Given the description of an element on the screen output the (x, y) to click on. 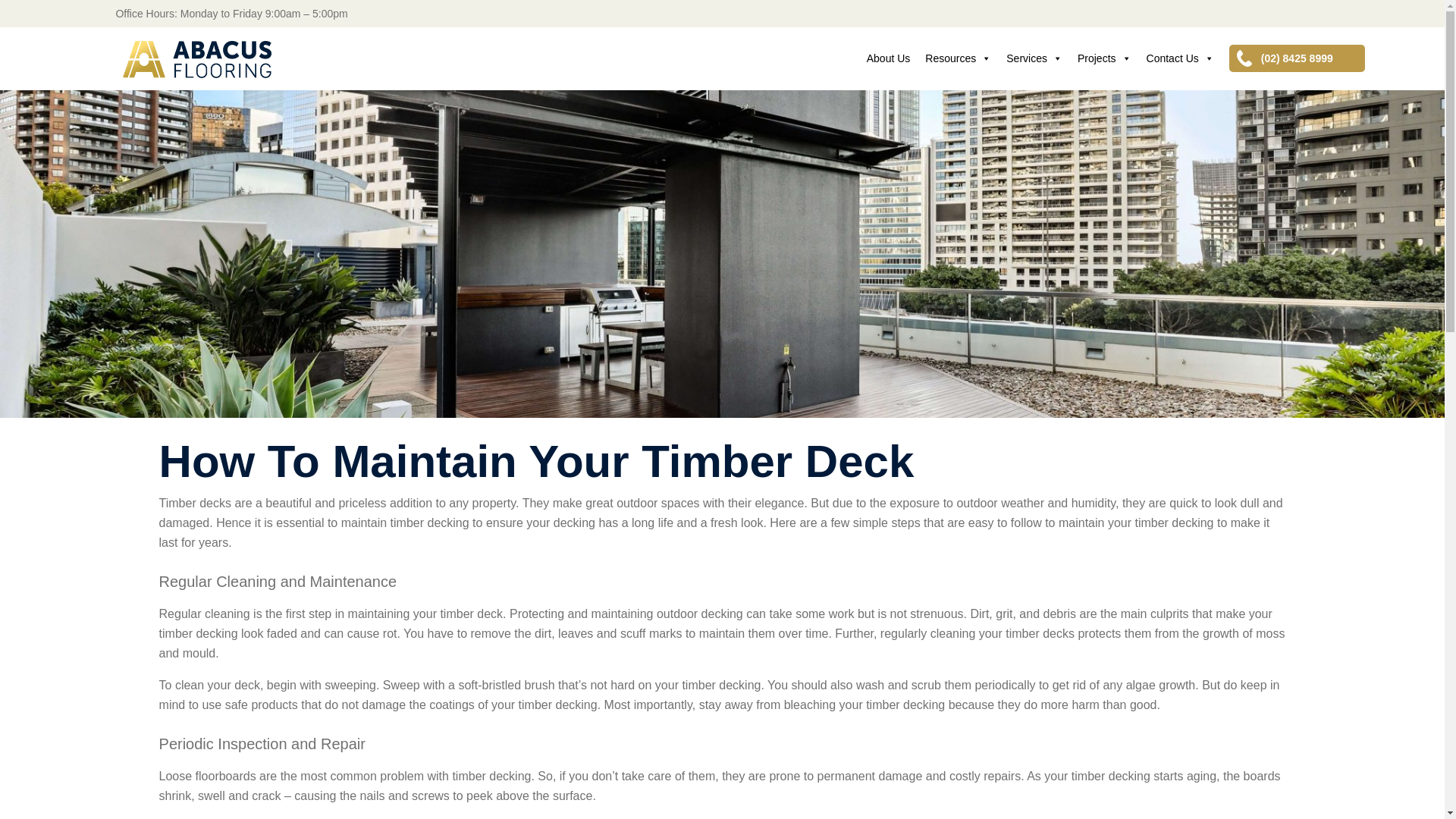
About Us (888, 58)
Projects (1104, 58)
Services (1034, 58)
Contact Us (1179, 58)
Resources (957, 58)
